Given the description of an element on the screen output the (x, y) to click on. 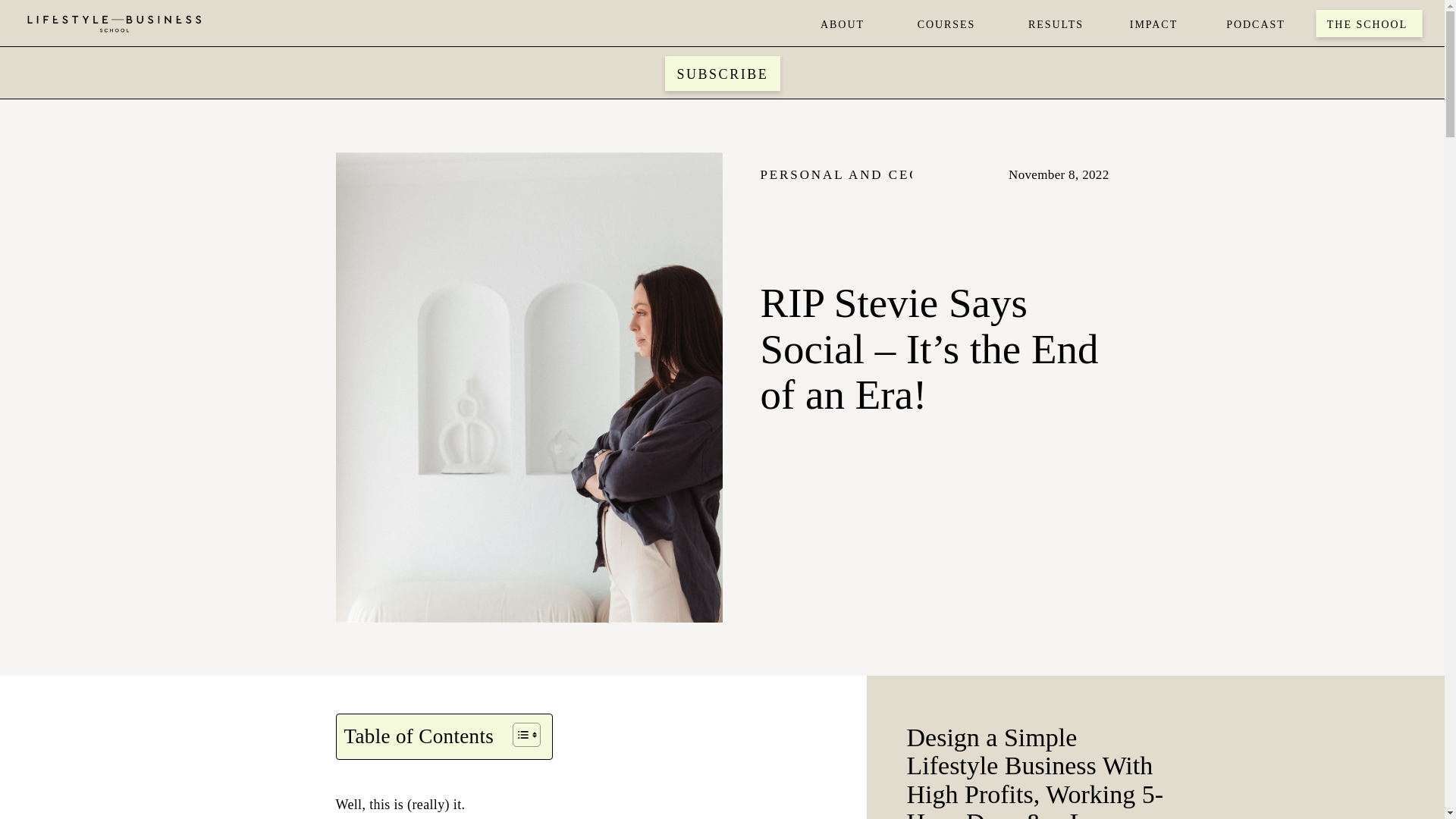
PERSONAL AND CEO (840, 174)
PODCAST (1255, 23)
IMPACT (1153, 23)
ABOUT (842, 23)
COURSES (946, 23)
RESULTS (1055, 23)
